Given the description of an element on the screen output the (x, y) to click on. 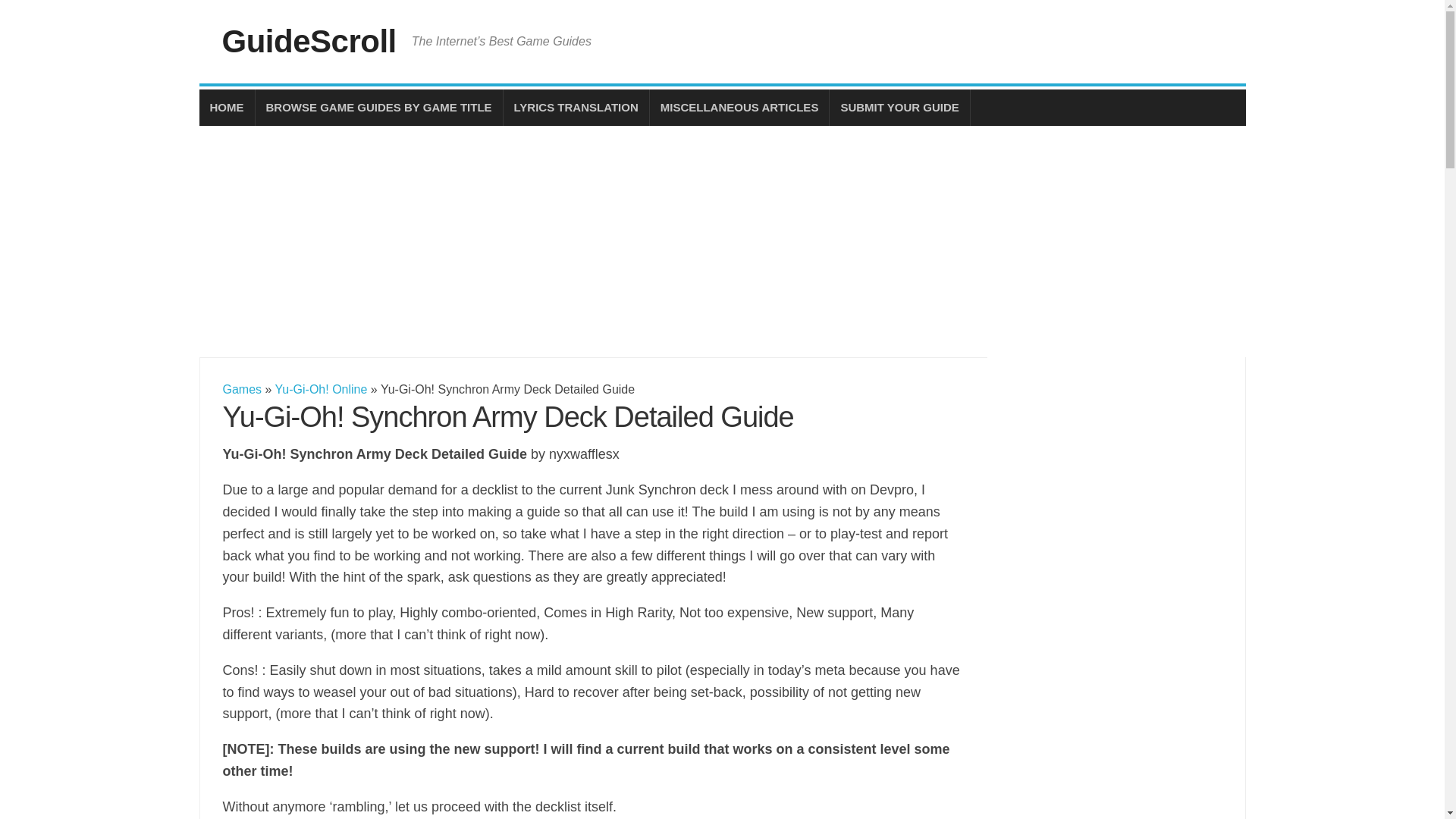
BROWSE GAME GUIDES BY GAME TITLE (378, 107)
Games (242, 389)
GuideScroll (308, 41)
Go to the Yu-Gi-Oh! Online category archives. (321, 389)
Yu-Gi-Oh! Online (321, 389)
MISCELLANEOUS ARTICLES (739, 107)
LYRICS TRANSLATION (576, 107)
SUBMIT YOUR GUIDE (899, 107)
HOME (225, 107)
